Given the description of an element on the screen output the (x, y) to click on. 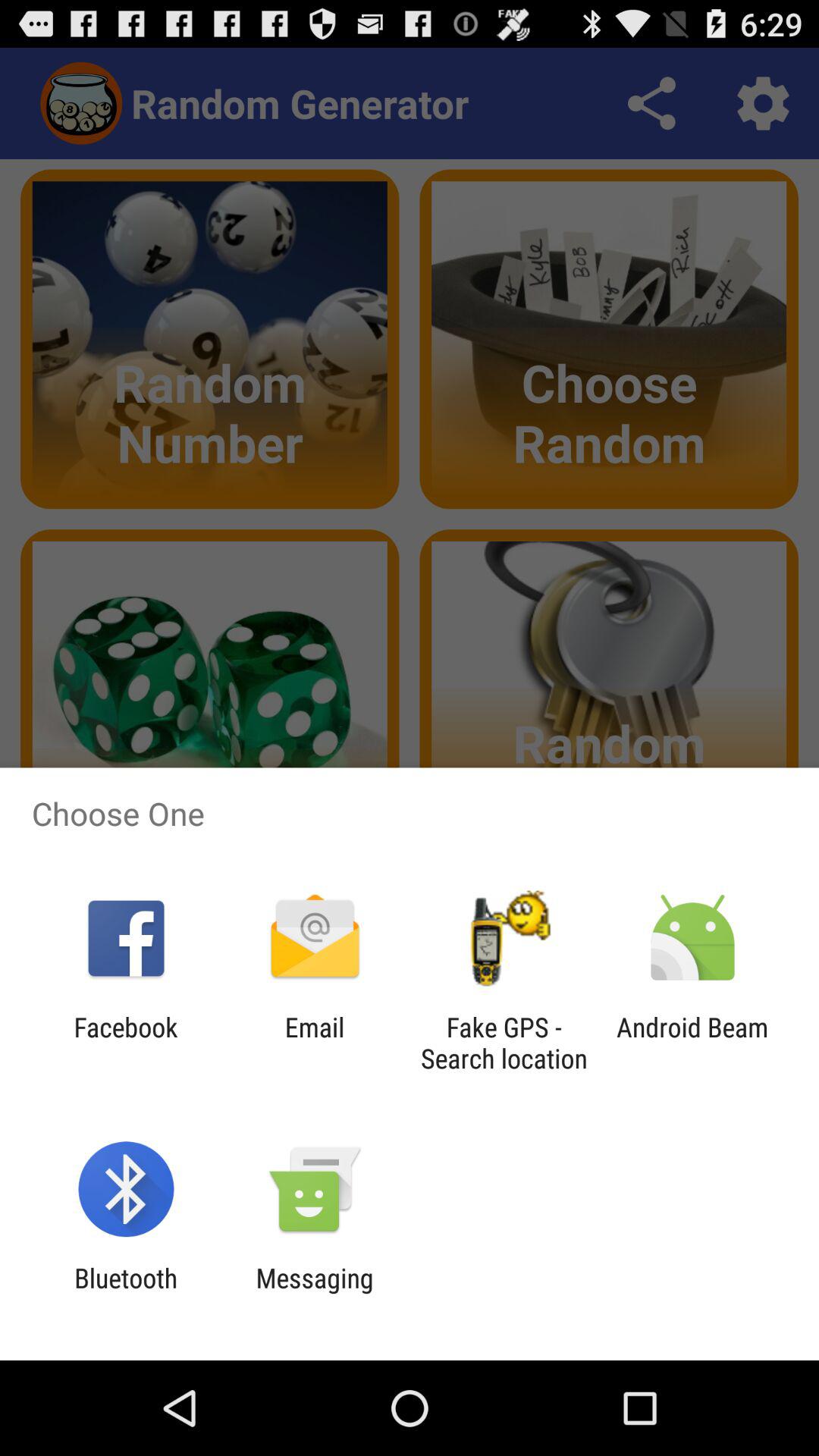
flip until messaging icon (314, 1293)
